Given the description of an element on the screen output the (x, y) to click on. 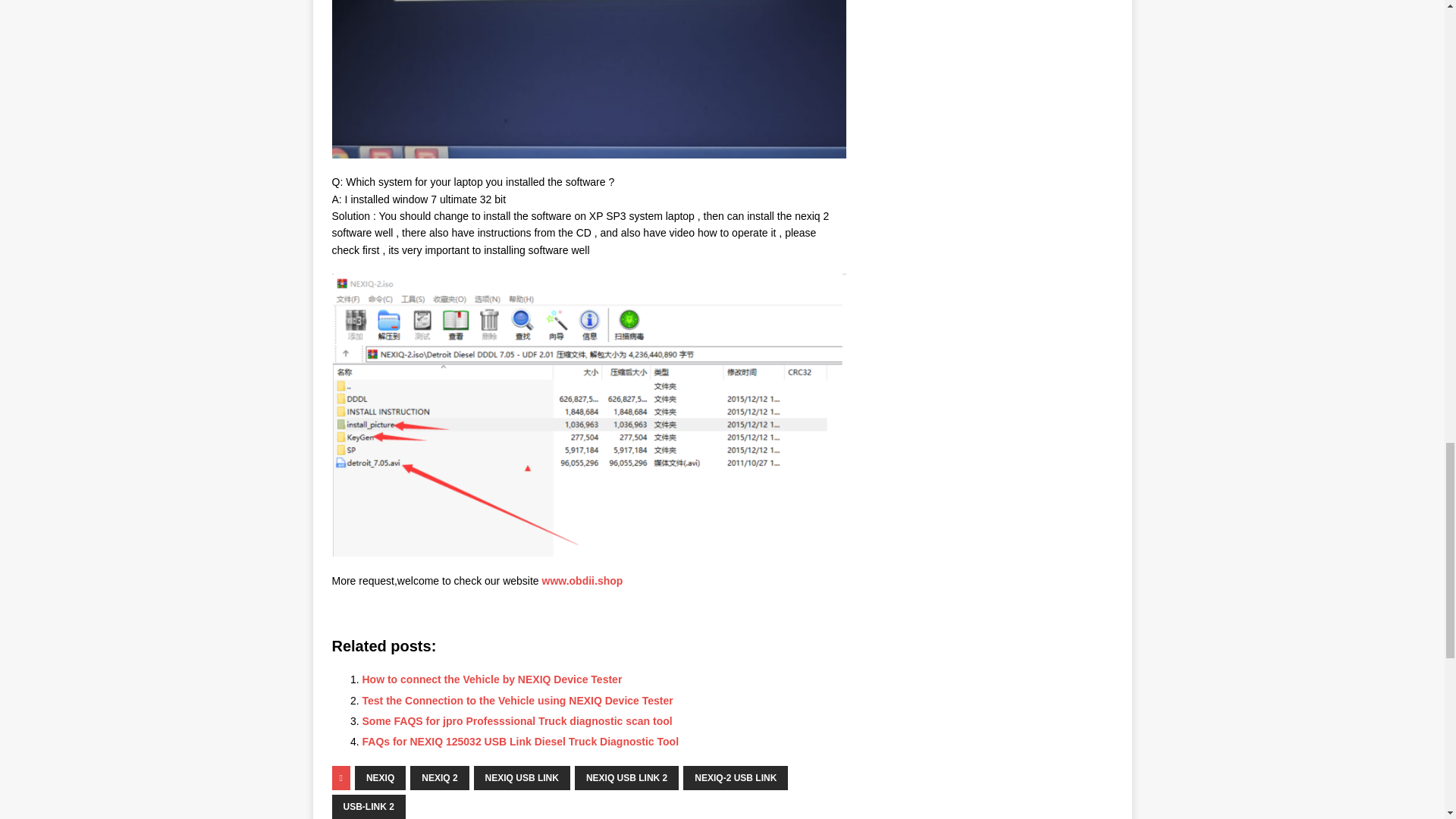
How to connect the Vehicle by NEXIQ Device Tester (492, 679)
Some FAQS for jpro Professsional Truck diagnostic scan tool (517, 720)
NEXIQ USB LINK 2 (626, 777)
Some FAQS for jpro Professsional Truck diagnostic scan tool (517, 720)
www.obdii.shop (582, 580)
NEXIQ 2 (439, 777)
NEXIQ (380, 777)
Test the Connection to the Vehicle using NEXIQ Device Tester (517, 700)
NEXIQ USB LINK (522, 777)
Test the Connection to the Vehicle using NEXIQ Device Tester (517, 700)
